Given the description of an element on the screen output the (x, y) to click on. 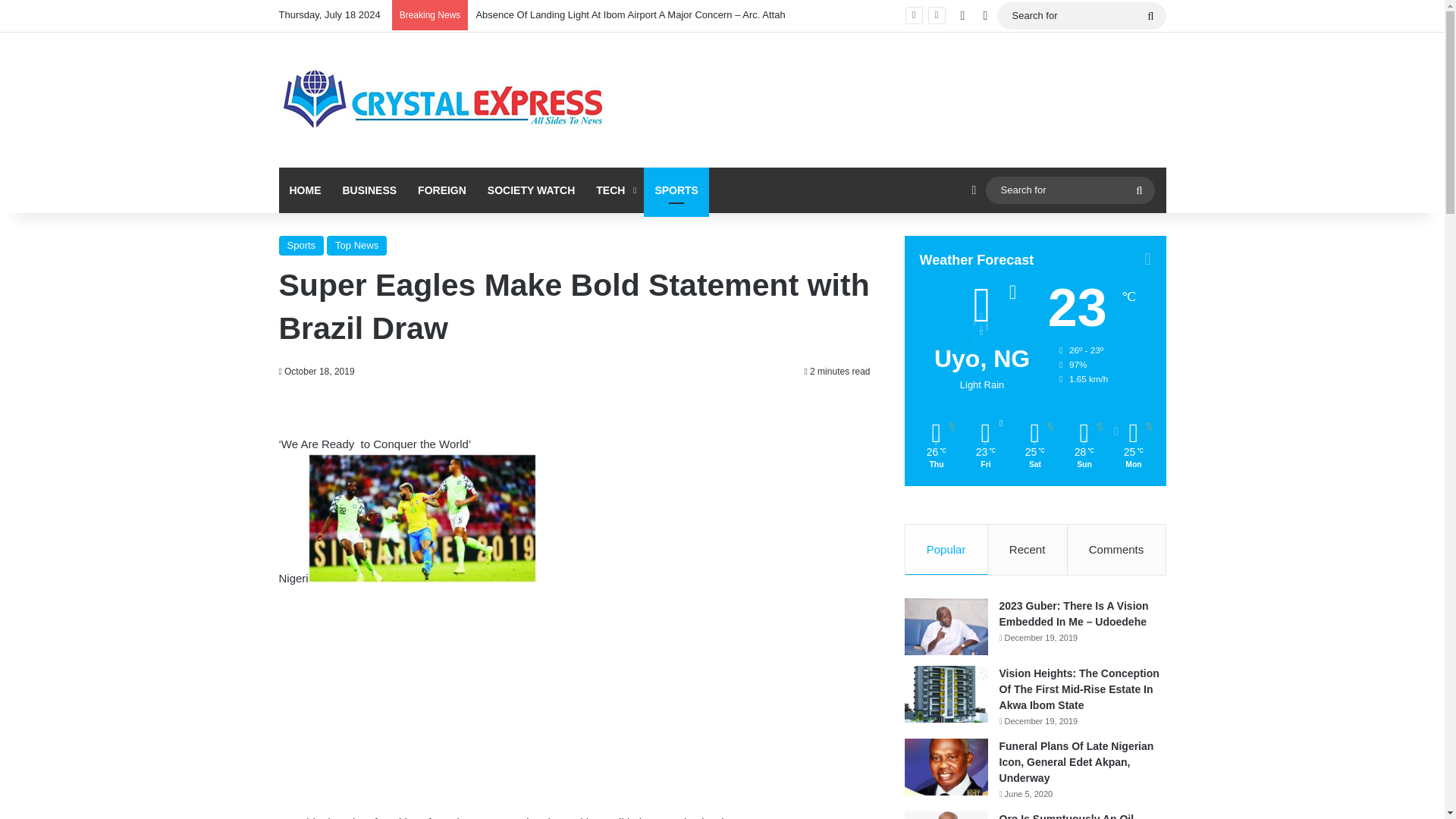
TECH (614, 189)
Popular (946, 549)
Sports (301, 245)
Facebook (962, 15)
Recent (1027, 549)
Comments (1116, 549)
Search for (1139, 189)
CrystalExpress (444, 100)
Search for (1069, 189)
Advertisement (574, 700)
Search for (1080, 15)
Top News (356, 245)
Search for (1150, 15)
HOME (305, 189)
FOREIGN (442, 189)
